Given the description of an element on the screen output the (x, y) to click on. 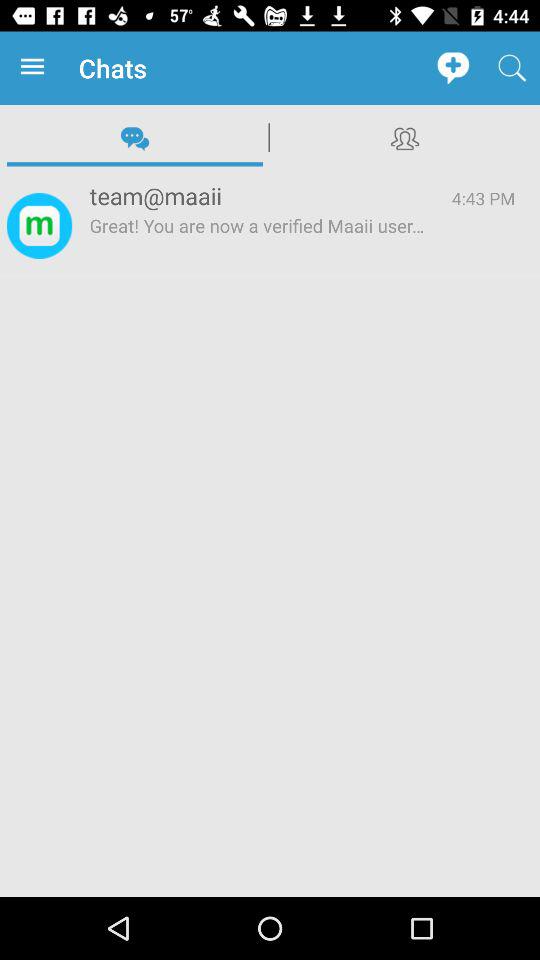
open icon to the left of 4:43 pm item (258, 195)
